Given the description of an element on the screen output the (x, y) to click on. 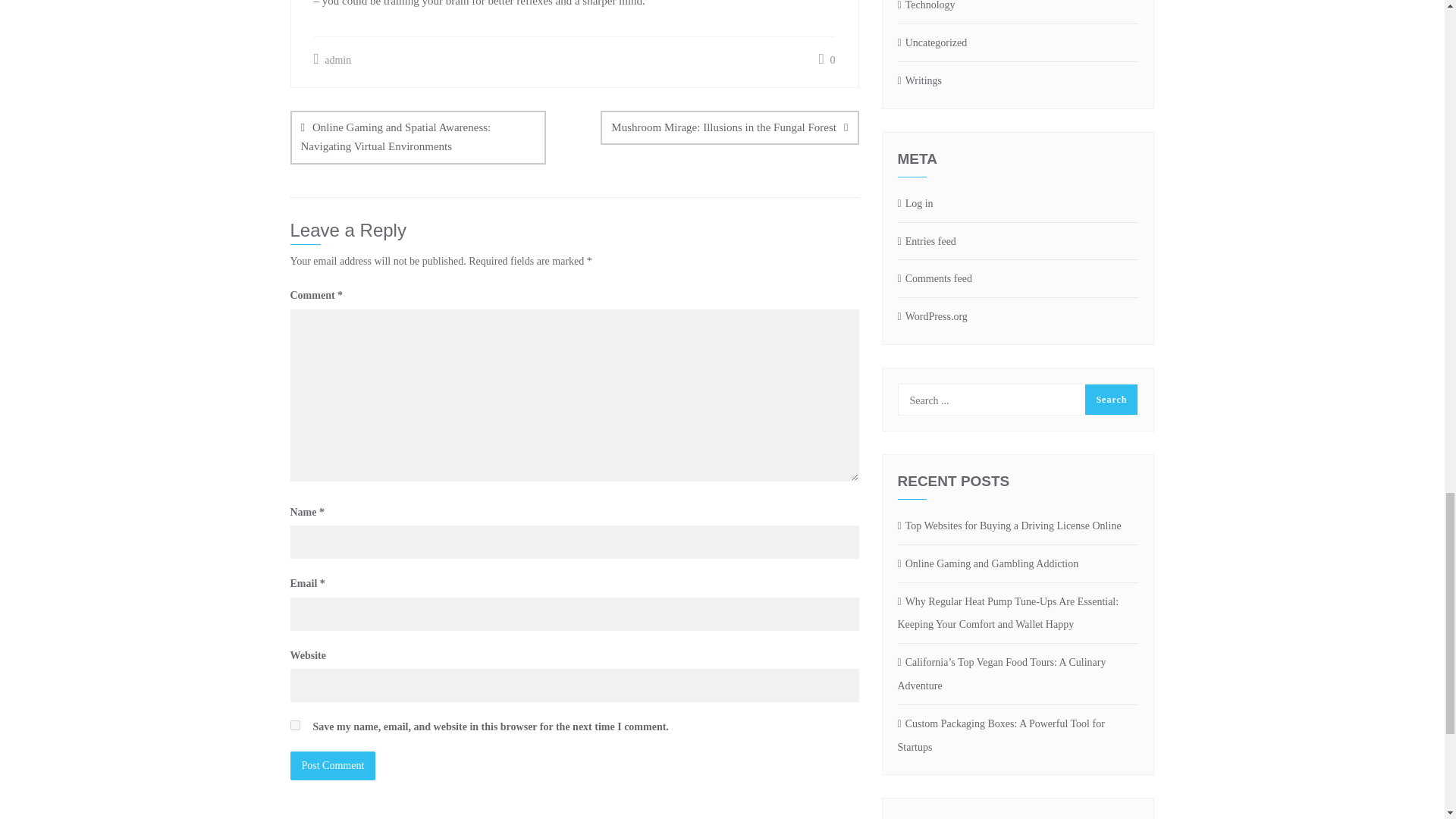
admin (333, 59)
yes (294, 725)
Post Comment (332, 765)
Post Comment (332, 765)
Search (1110, 399)
Mushroom Mirage: Illusions in the Fungal Forest (729, 127)
Search (1110, 399)
